Given the description of an element on the screen output the (x, y) to click on. 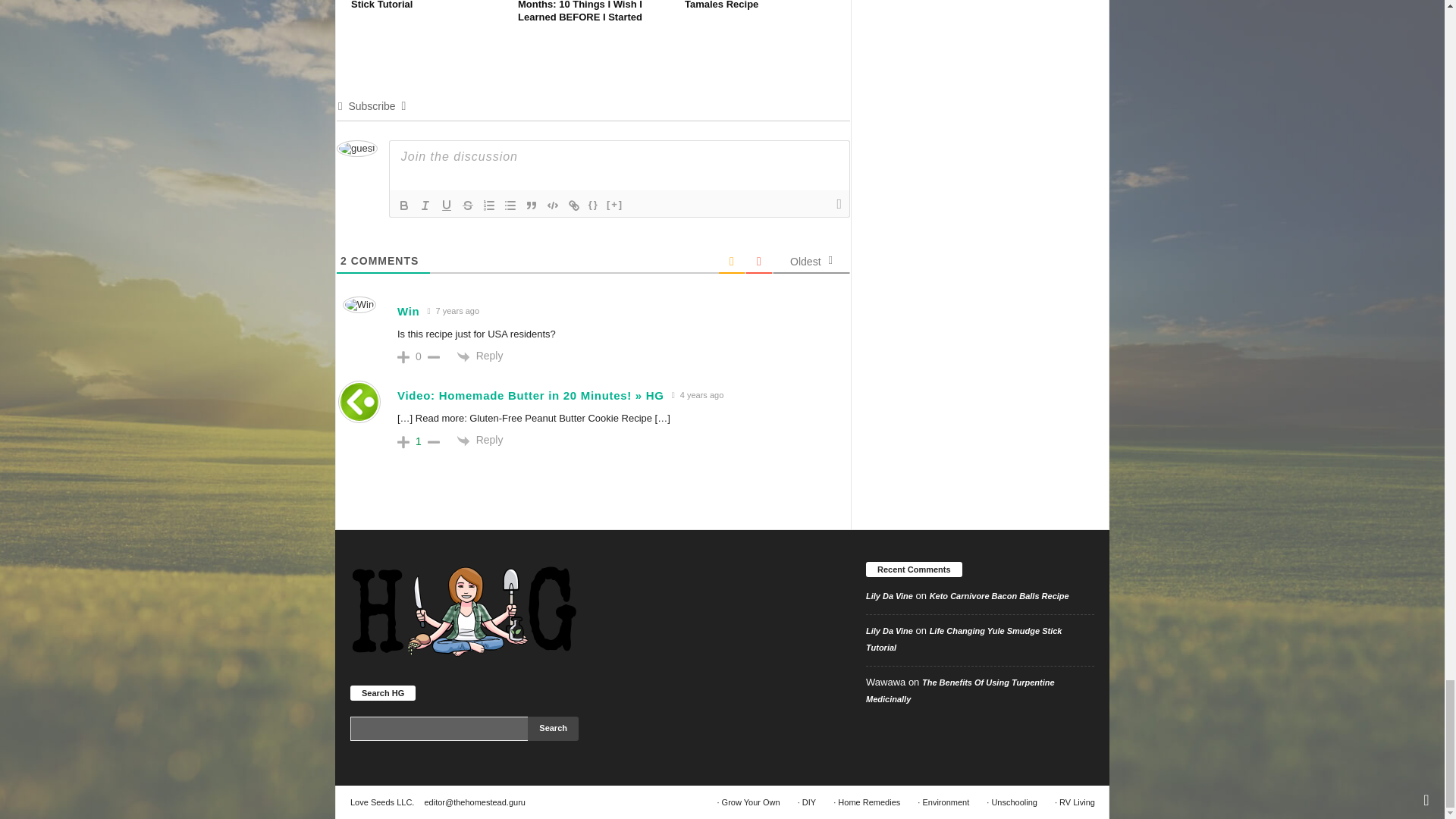
Search (552, 728)
